Given the description of an element on the screen output the (x, y) to click on. 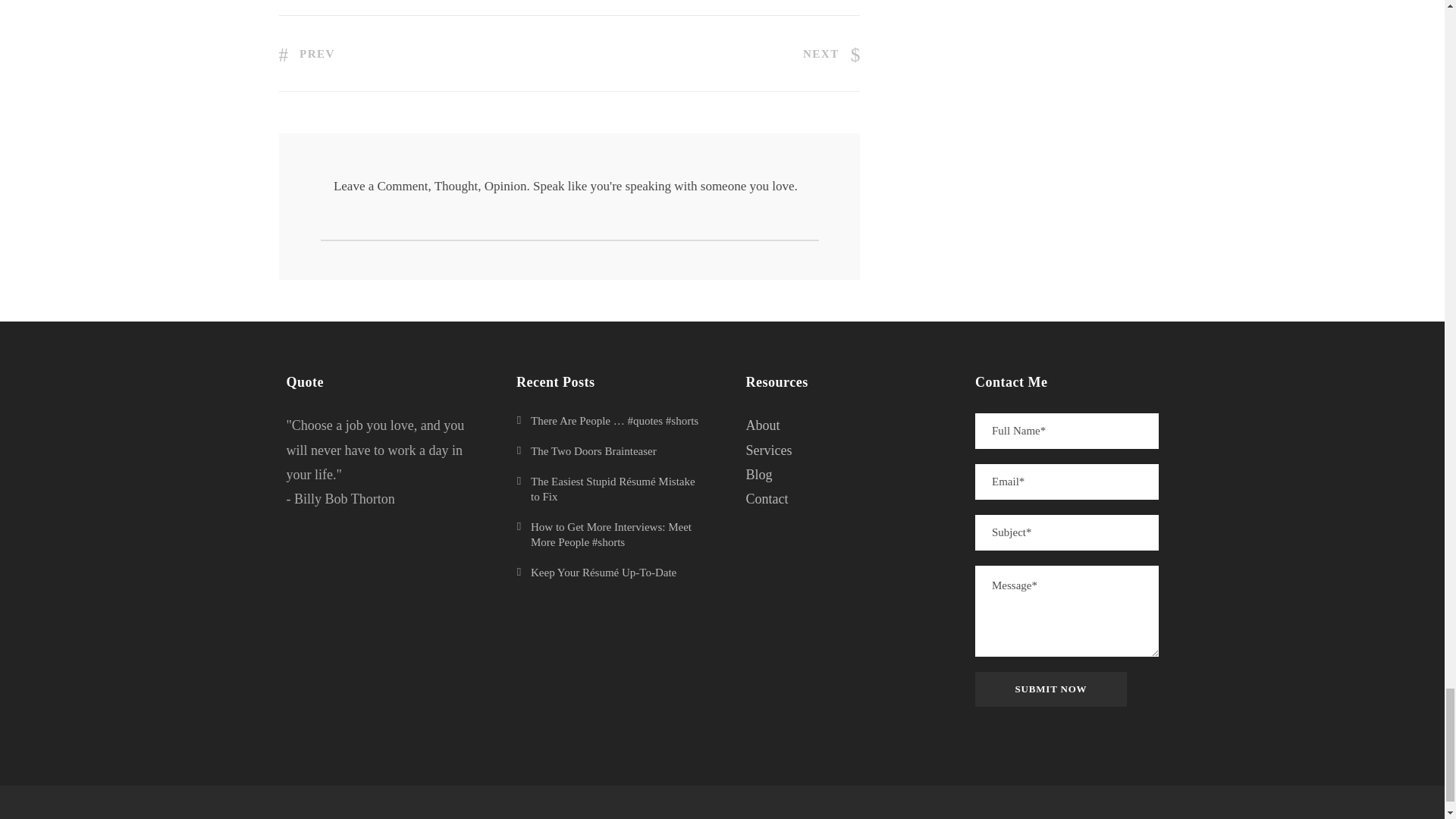
Submit Now (1050, 688)
